Given the description of an element on the screen output the (x, y) to click on. 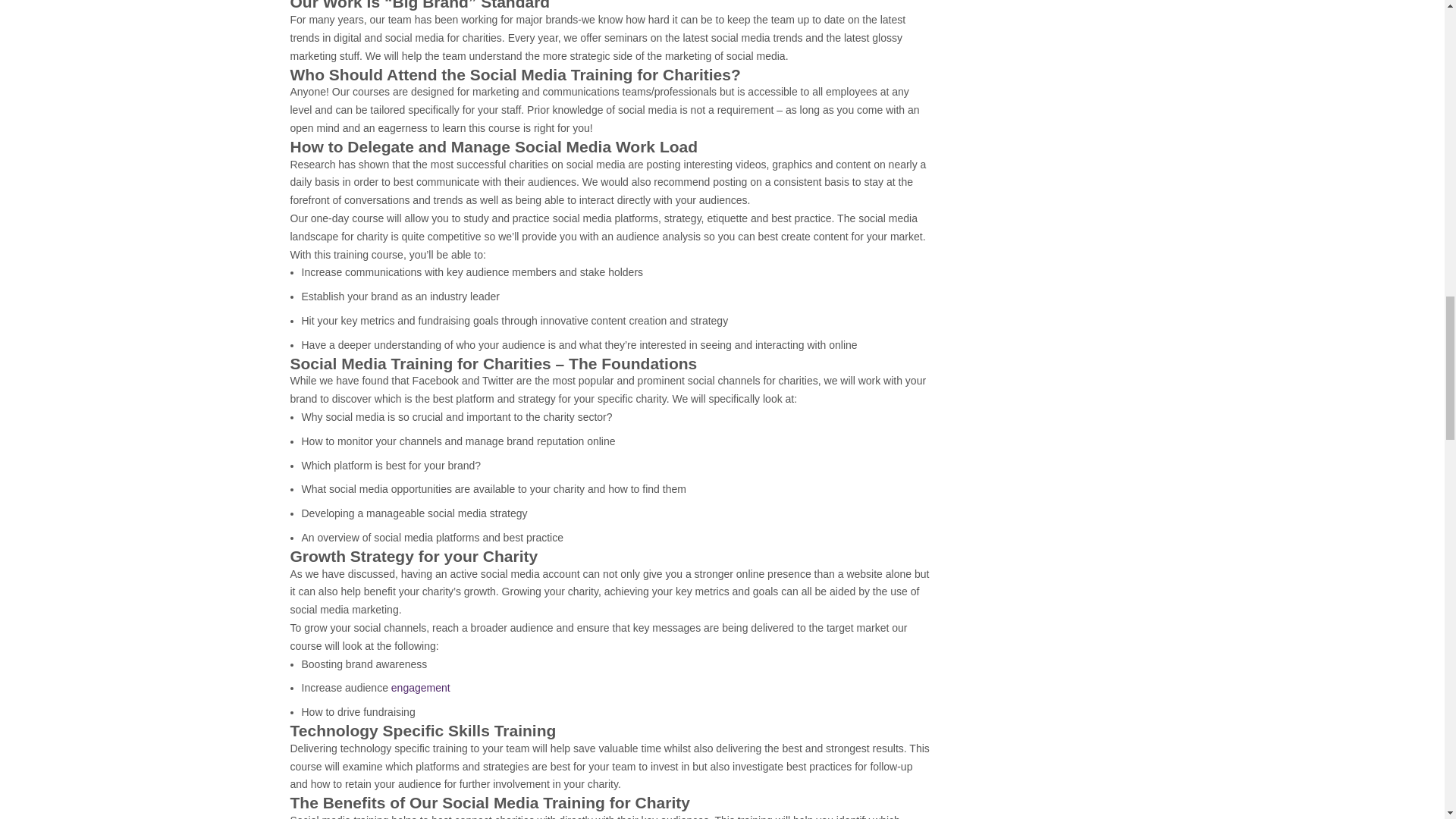
engagement (420, 687)
